Given the description of an element on the screen output the (x, y) to click on. 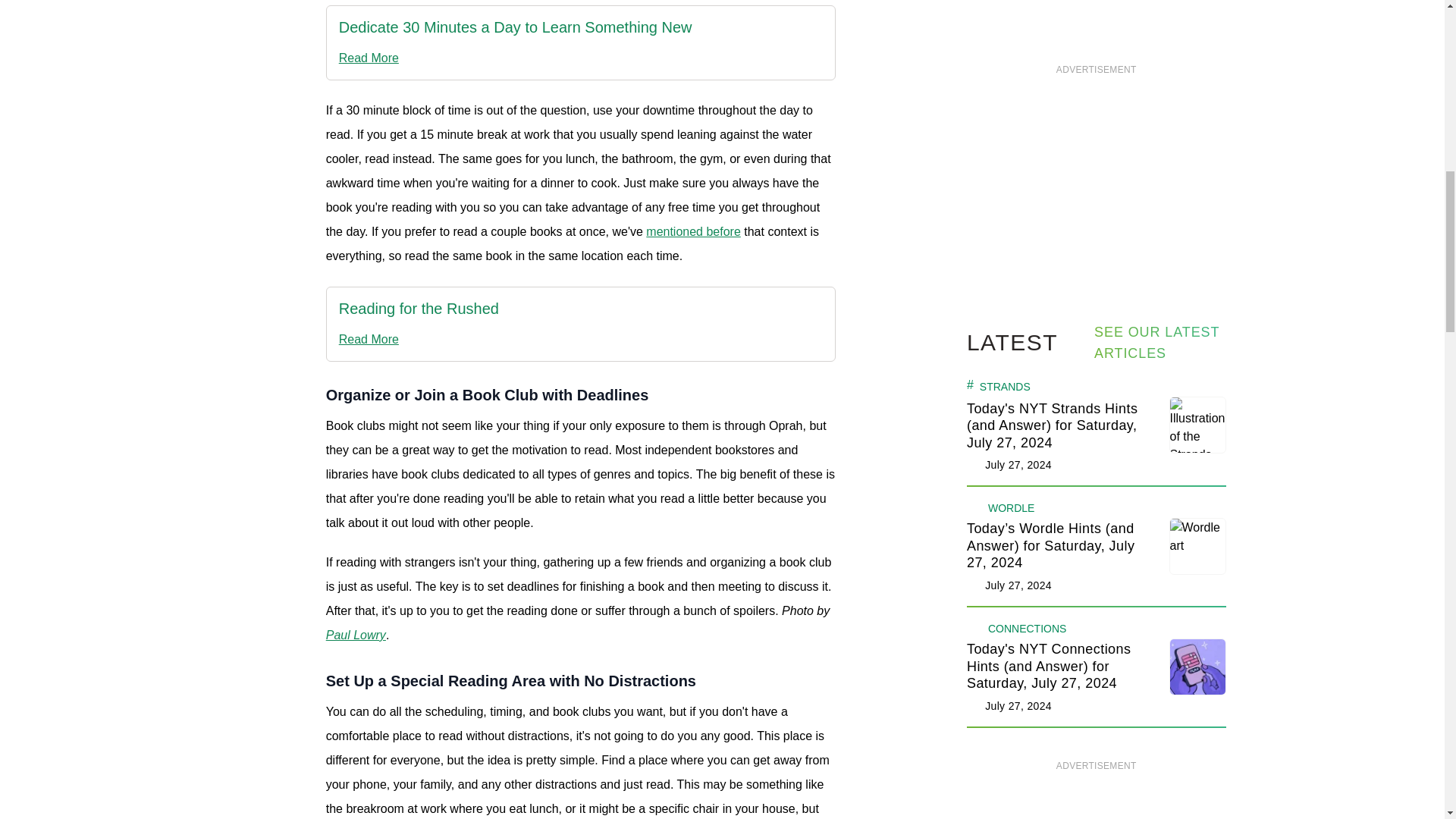
open in a new window (419, 339)
open in a new window (693, 231)
open in a new window (516, 58)
open in a new window (419, 308)
open in a new window (516, 27)
